Given the description of an element on the screen output the (x, y) to click on. 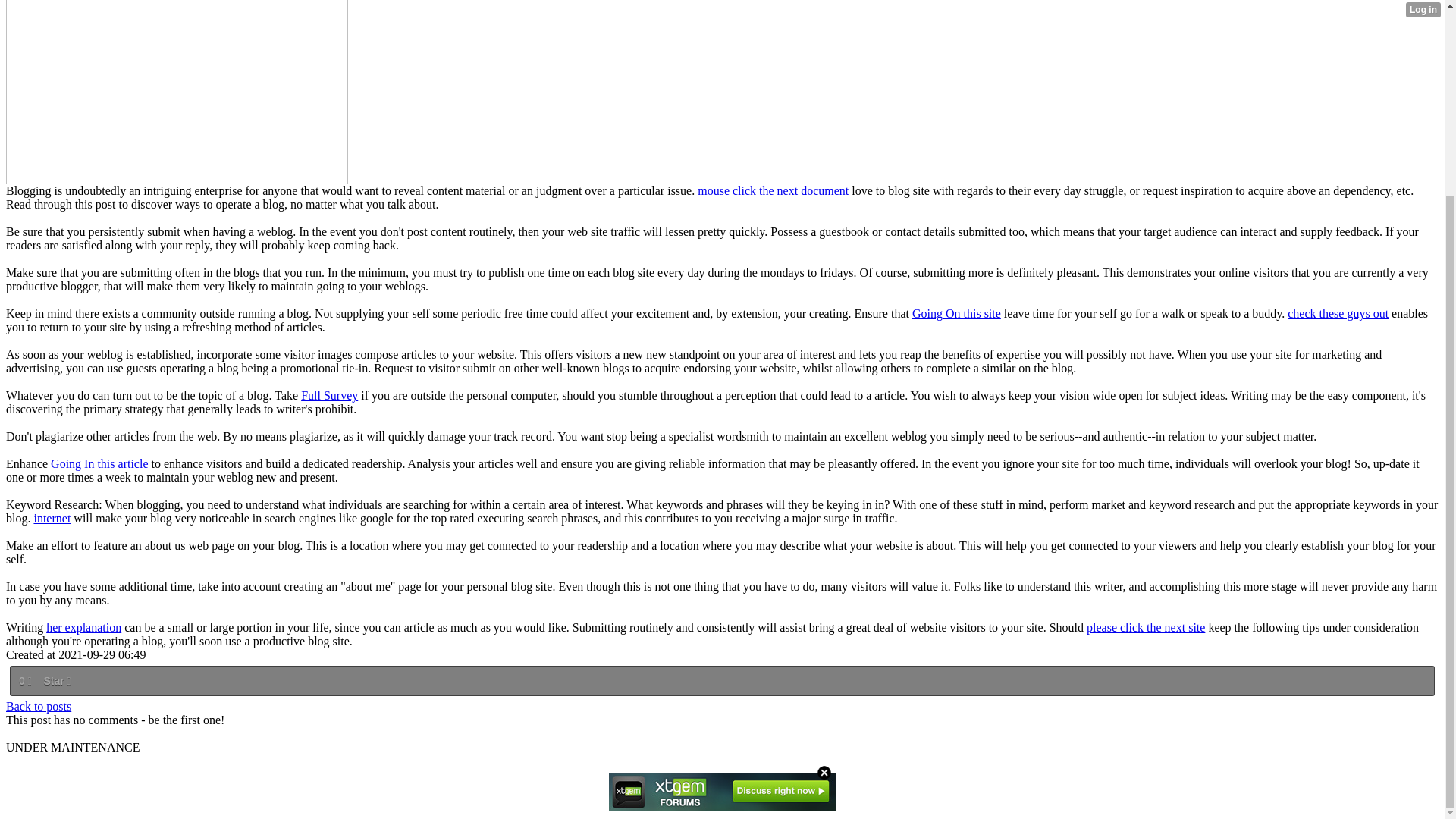
Full Survey (329, 395)
her explanation (83, 626)
Star (56, 680)
0 (24, 680)
Going In this article (99, 463)
internet (51, 517)
Going On this site (956, 313)
mouse click the next document (772, 190)
please click the next site (1145, 626)
check these guys out (1338, 313)
Back to posts (38, 706)
